Given the description of an element on the screen output the (x, y) to click on. 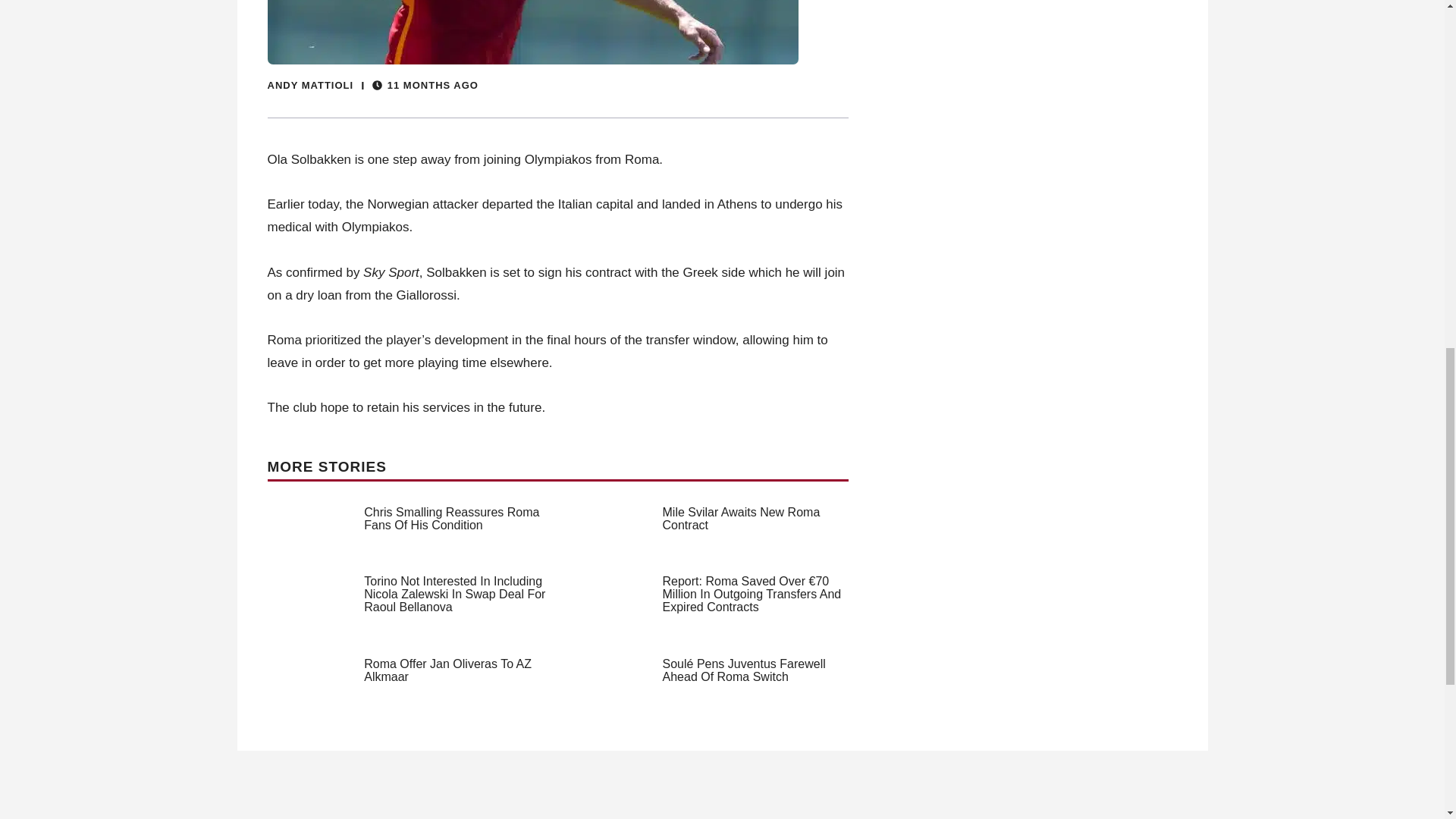
Chris Smalling Reassures Roma Fans Of His Condition (451, 518)
Roma Offer Jan Oliveras To AZ Alkmaar (447, 670)
Mile Svilar Awaits New Roma Contract (741, 518)
